Given the description of an element on the screen output the (x, y) to click on. 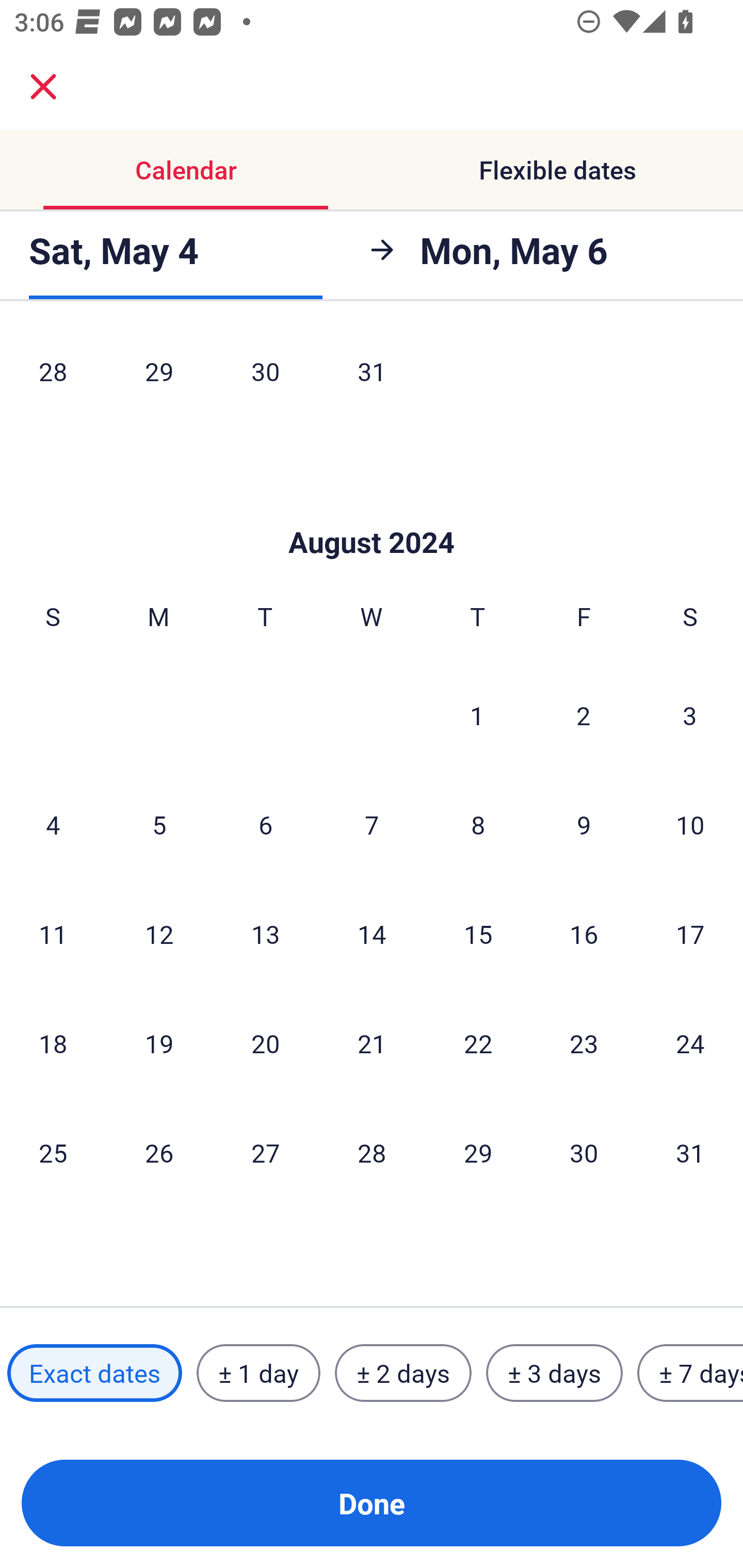
close. (43, 86)
Flexible dates (557, 170)
28 Sunday, July 28, 2024 (53, 376)
29 Monday, July 29, 2024 (159, 376)
30 Tuesday, July 30, 2024 (265, 376)
31 Wednesday, July 31, 2024 (371, 376)
Skip to Done (371, 511)
1 Thursday, August 1, 2024 (477, 714)
2 Friday, August 2, 2024 (583, 714)
3 Saturday, August 3, 2024 (689, 714)
4 Sunday, August 4, 2024 (53, 824)
5 Monday, August 5, 2024 (159, 824)
6 Tuesday, August 6, 2024 (265, 824)
7 Wednesday, August 7, 2024 (371, 824)
8 Thursday, August 8, 2024 (477, 824)
9 Friday, August 9, 2024 (584, 824)
10 Saturday, August 10, 2024 (690, 824)
11 Sunday, August 11, 2024 (53, 933)
12 Monday, August 12, 2024 (159, 933)
13 Tuesday, August 13, 2024 (265, 933)
14 Wednesday, August 14, 2024 (371, 933)
15 Thursday, August 15, 2024 (477, 933)
16 Friday, August 16, 2024 (584, 933)
17 Saturday, August 17, 2024 (690, 933)
18 Sunday, August 18, 2024 (53, 1043)
19 Monday, August 19, 2024 (159, 1043)
20 Tuesday, August 20, 2024 (265, 1043)
21 Wednesday, August 21, 2024 (371, 1043)
22 Thursday, August 22, 2024 (477, 1043)
23 Friday, August 23, 2024 (584, 1043)
24 Saturday, August 24, 2024 (690, 1043)
25 Sunday, August 25, 2024 (53, 1152)
26 Monday, August 26, 2024 (159, 1152)
27 Tuesday, August 27, 2024 (265, 1152)
28 Wednesday, August 28, 2024 (371, 1152)
29 Thursday, August 29, 2024 (477, 1152)
30 Friday, August 30, 2024 (584, 1152)
31 Saturday, August 31, 2024 (690, 1152)
Exact dates (94, 1372)
± 1 day (258, 1372)
± 2 days (403, 1372)
± 3 days (553, 1372)
± 7 days (690, 1372)
Done (371, 1502)
